Given the description of an element on the screen output the (x, y) to click on. 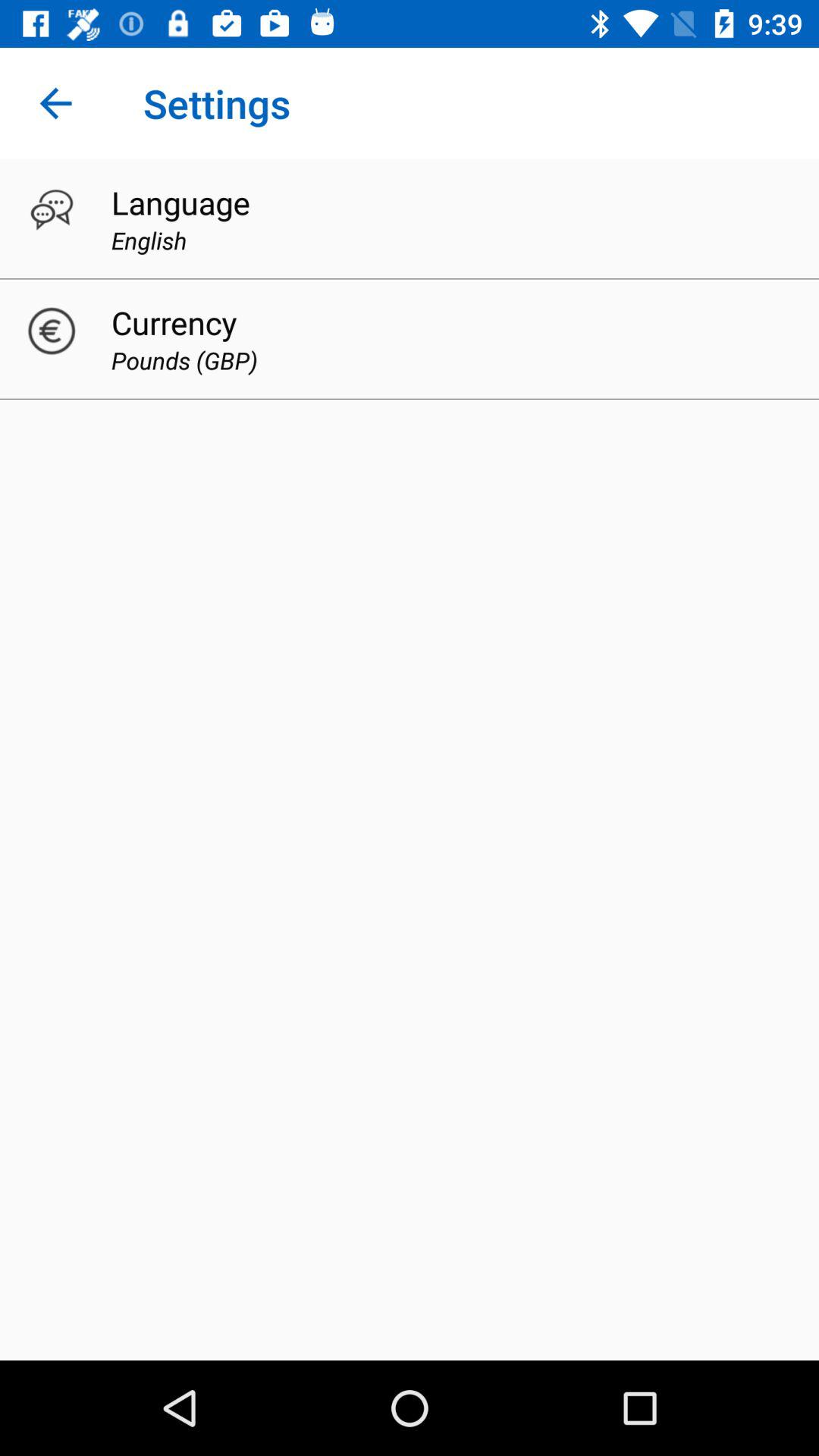
turn on pounds (gbp) (184, 360)
